Given the description of an element on the screen output the (x, y) to click on. 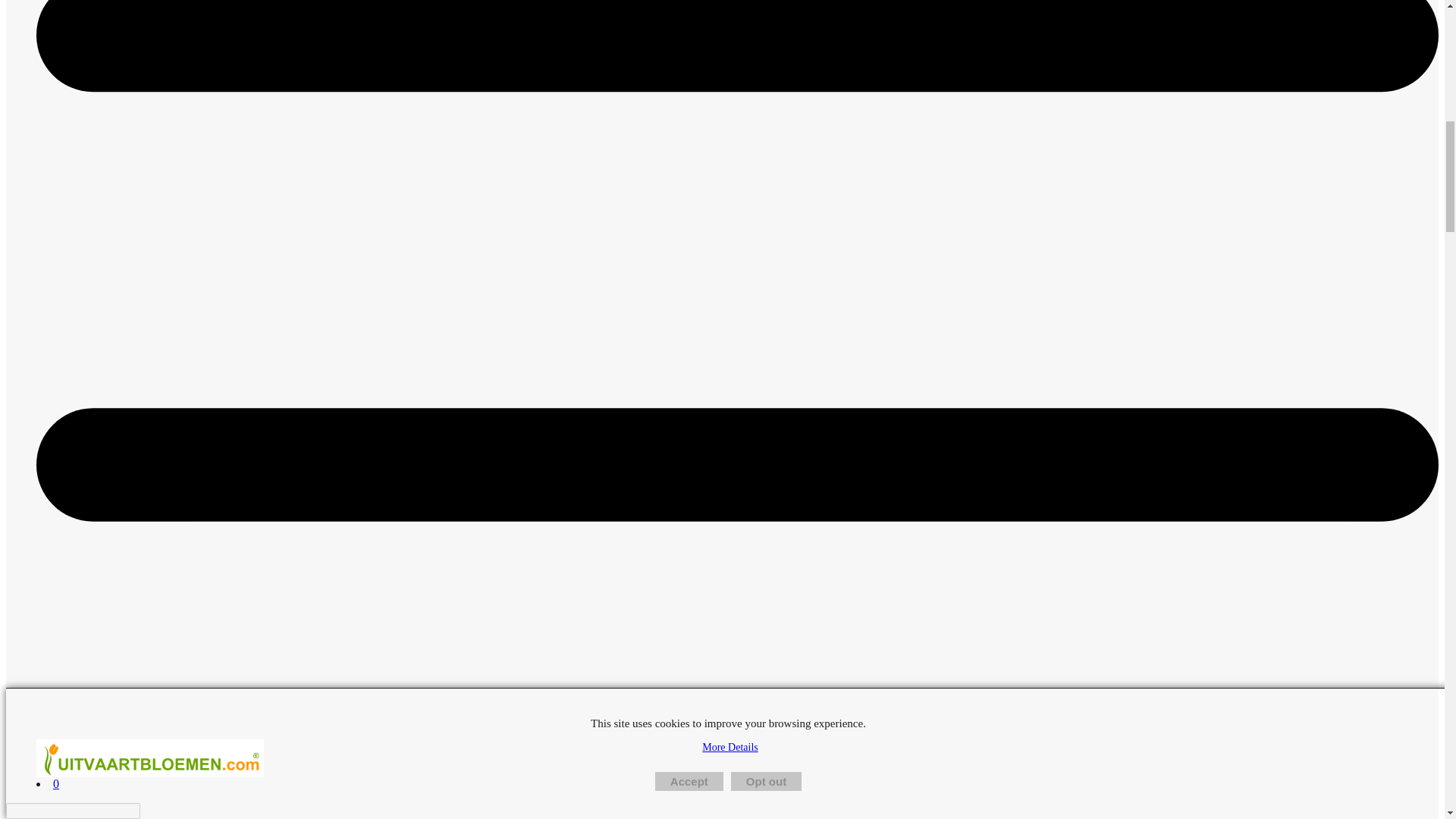
Find (148, 810)
Funeral Flowers - LOGO (149, 758)
